Given the description of an element on the screen output the (x, y) to click on. 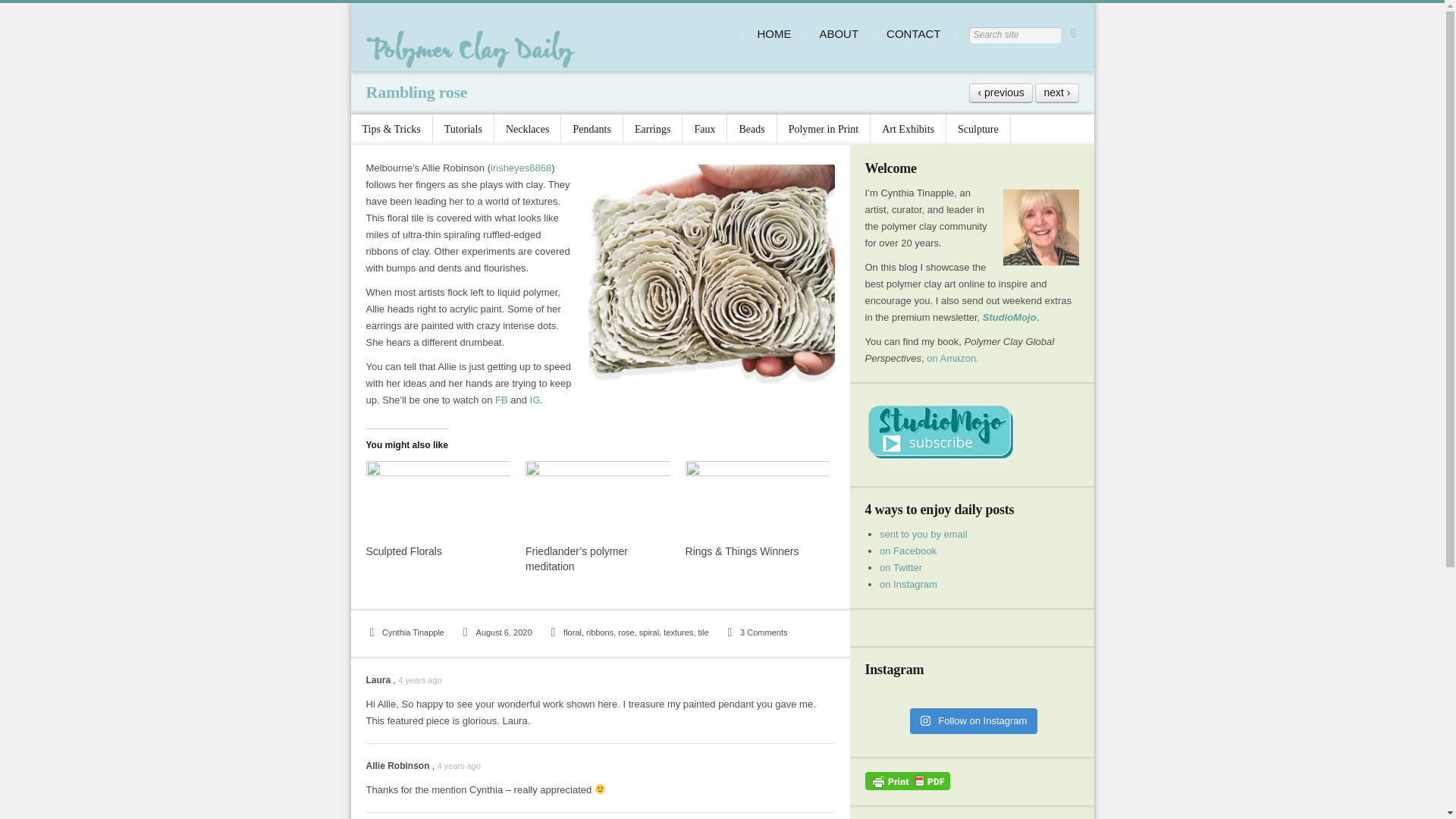
Sculpted Florals (403, 551)
Cynthia Tinapple (404, 632)
ABOUT (838, 33)
Pendants (591, 129)
Sculpted Florals (438, 502)
Polymer in Print (823, 129)
Sculpted Florals (403, 551)
IG (534, 399)
August 6, 2020 (496, 632)
ribbons (599, 632)
textures (678, 632)
View all posts from August (496, 632)
Earrings (652, 129)
HOME (773, 33)
